Given the description of an element on the screen output the (x, y) to click on. 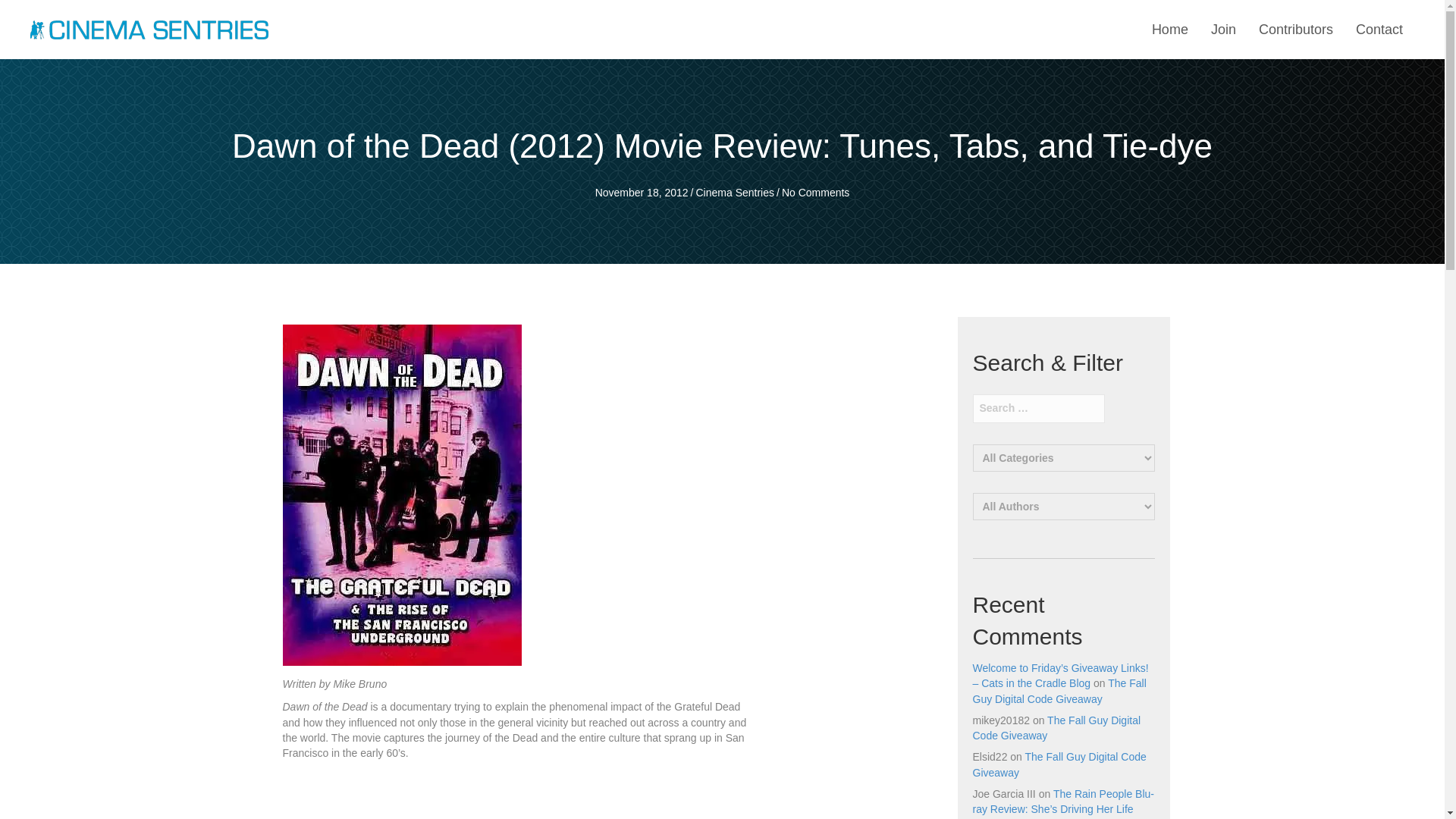
The Fall Guy Digital Code Giveaway (1058, 764)
No Comments (814, 192)
Contact (1379, 29)
The Fall Guy Digital Code Giveaway (1056, 728)
The Fall Guy Digital Code Giveaway (1058, 690)
Cinema Sentries (734, 192)
Contributors (1295, 29)
Cinema Sentries (148, 28)
Join (1223, 29)
Home (1169, 29)
